Given the description of an element on the screen output the (x, y) to click on. 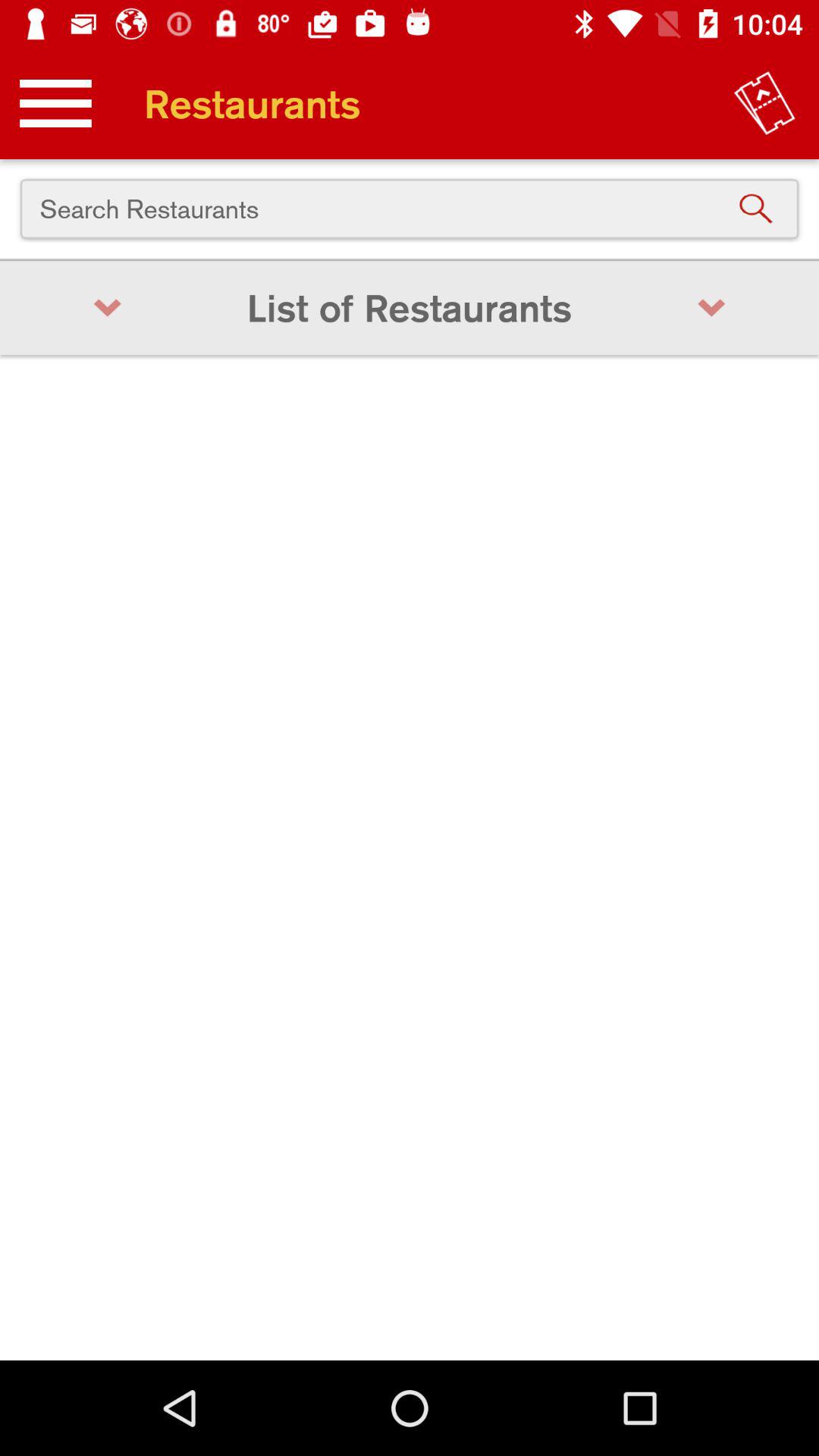
select the icon above the search restaurants (55, 103)
